Given the description of an element on the screen output the (x, y) to click on. 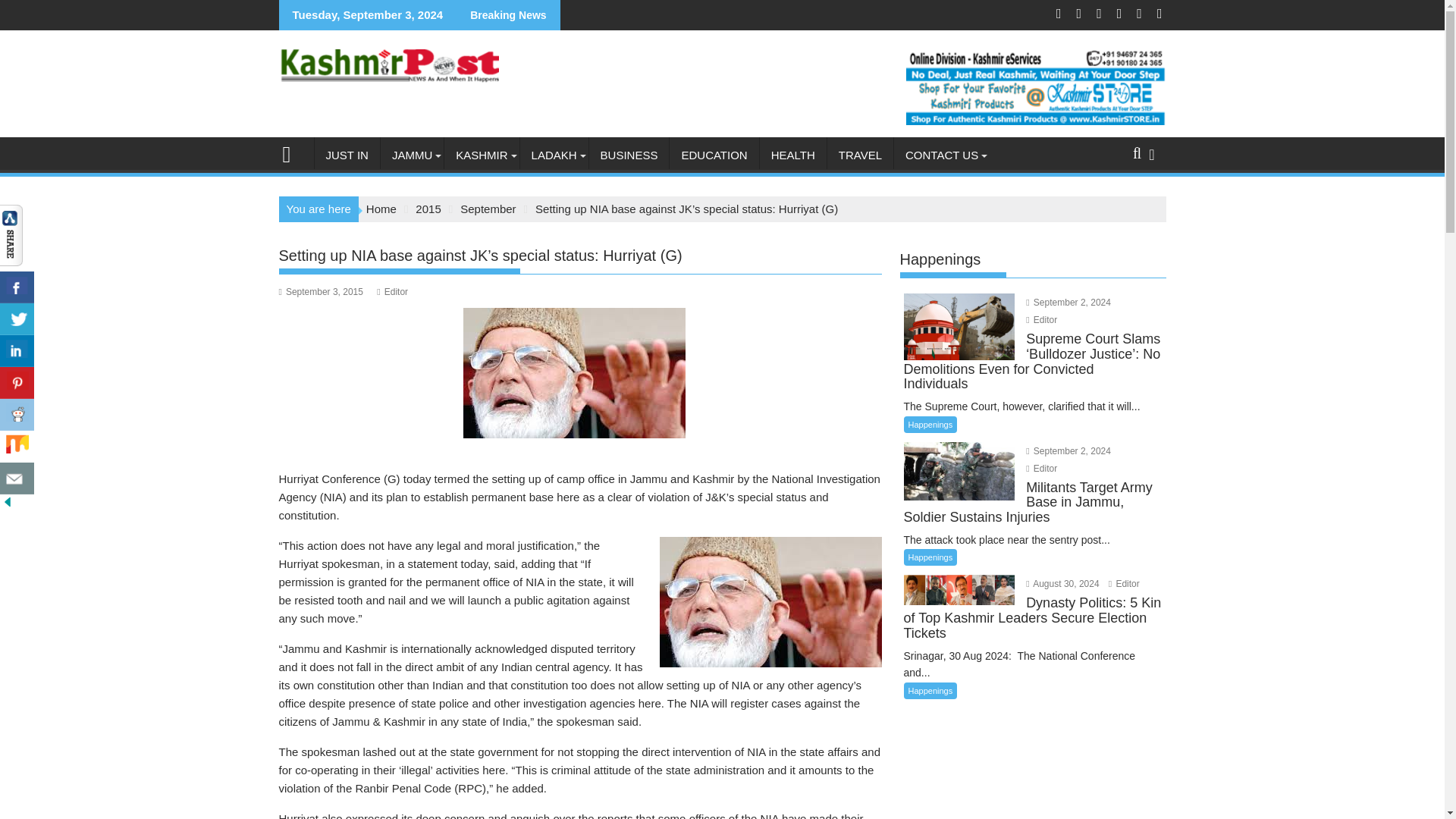
Editor (1041, 468)
JAMMU (412, 155)
KASHMIR (481, 155)
Kashmir POST (293, 152)
Editor (1041, 319)
JUST IN (346, 155)
Editor (1124, 583)
LADAKH (553, 155)
